Given the description of an element on the screen output the (x, y) to click on. 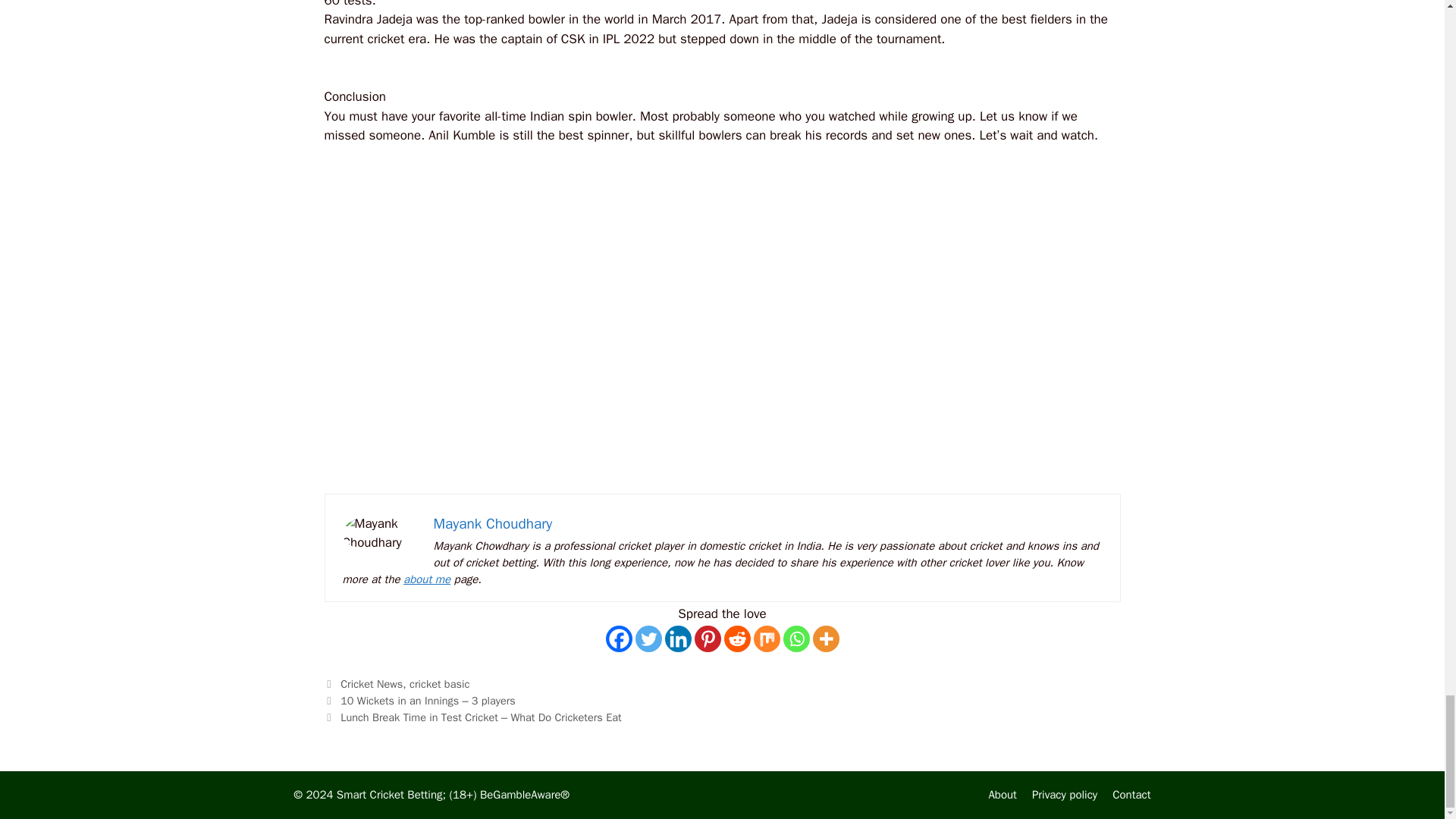
Whatsapp (796, 638)
Twitter (648, 638)
Mayank Choudhary (493, 524)
Reddit (736, 638)
about me (426, 579)
More (826, 638)
Pinterest (707, 638)
Facebook (618, 638)
Linkedin (676, 638)
Mix (767, 638)
